Given the description of an element on the screen output the (x, y) to click on. 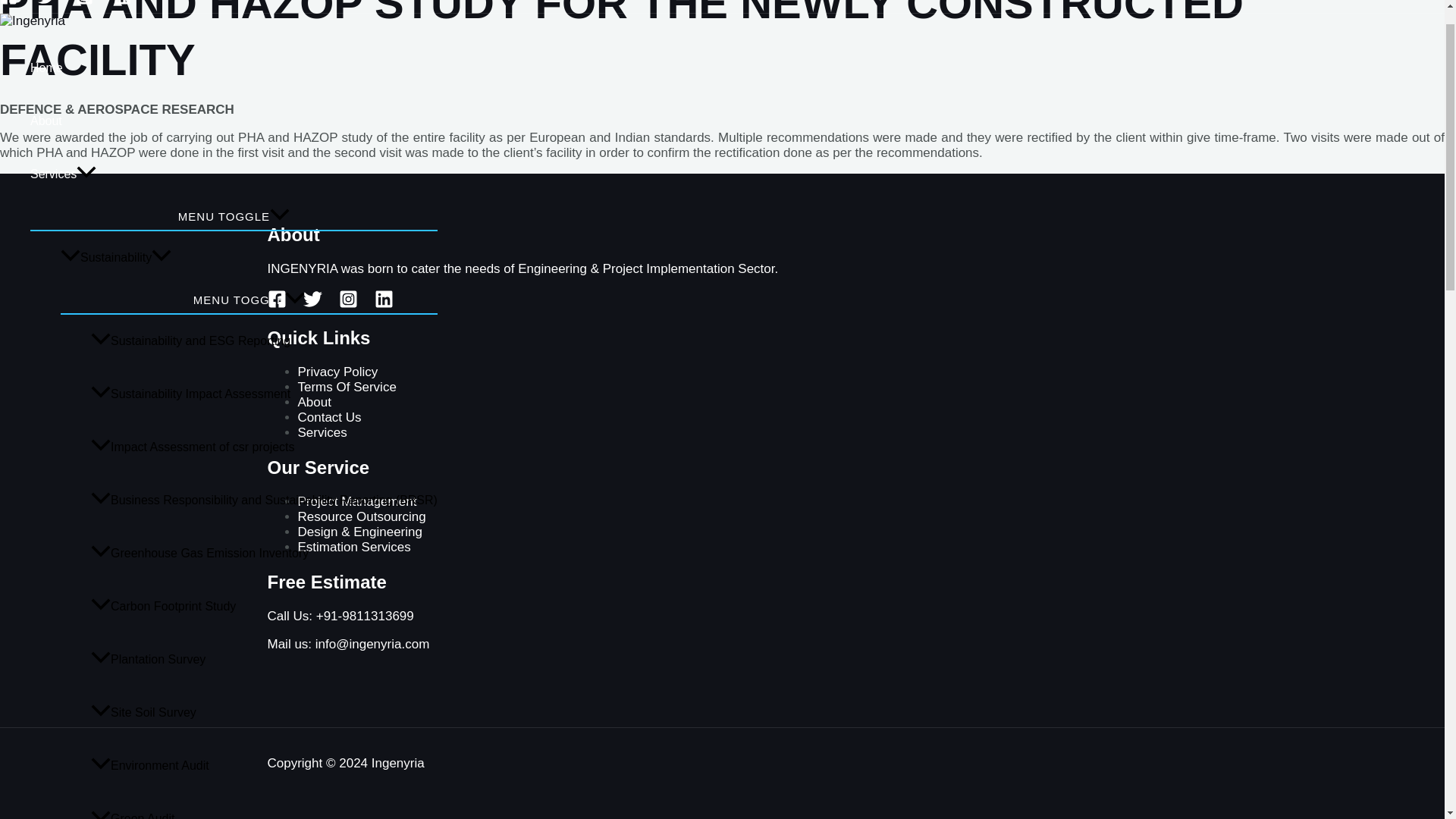
Site Soil Survey (264, 712)
MENU TOGGLE (249, 298)
Sustainability Impact Assessment (264, 393)
MENU TOGGLE (234, 215)
Services (234, 174)
Impact Assessment of csr projects (264, 447)
Greenhouse Gas Emission Inventory (264, 553)
Environment Audit (264, 765)
Plantation Survey (264, 659)
About (234, 121)
